Given the description of an element on the screen output the (x, y) to click on. 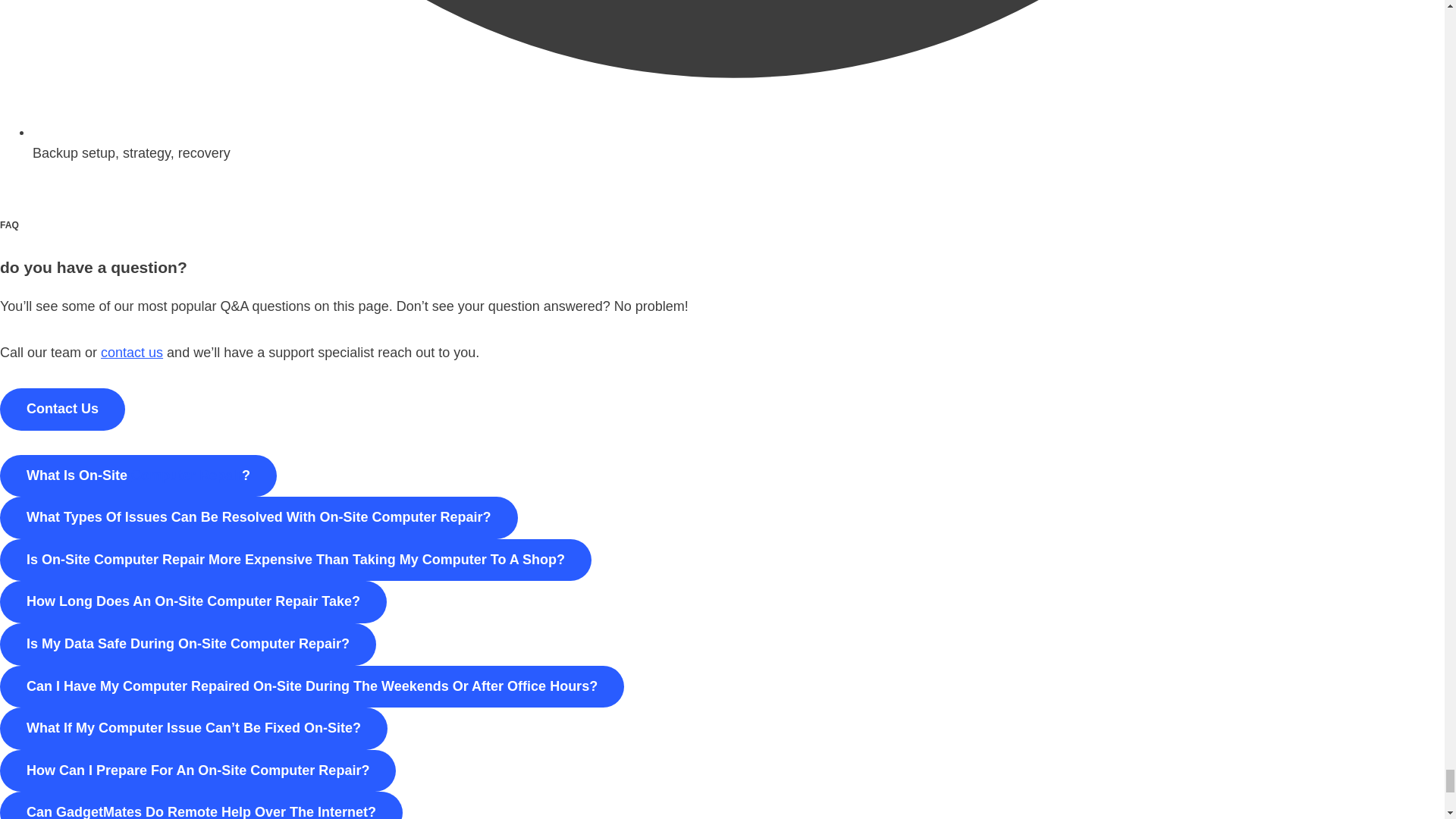
computer repair (186, 475)
How Long Does An On-Site Computer Repair Take? (193, 601)
What Is On-Site Computer Repair? (138, 476)
Contact Us (62, 409)
Is My Data Safe During On-Site Computer Repair? (187, 644)
Can GadgetMates Do Remote Help Over The Internet? (201, 805)
contact us (131, 352)
How Can I Prepare For An On-Site Computer Repair? (198, 771)
